Given the description of an element on the screen output the (x, y) to click on. 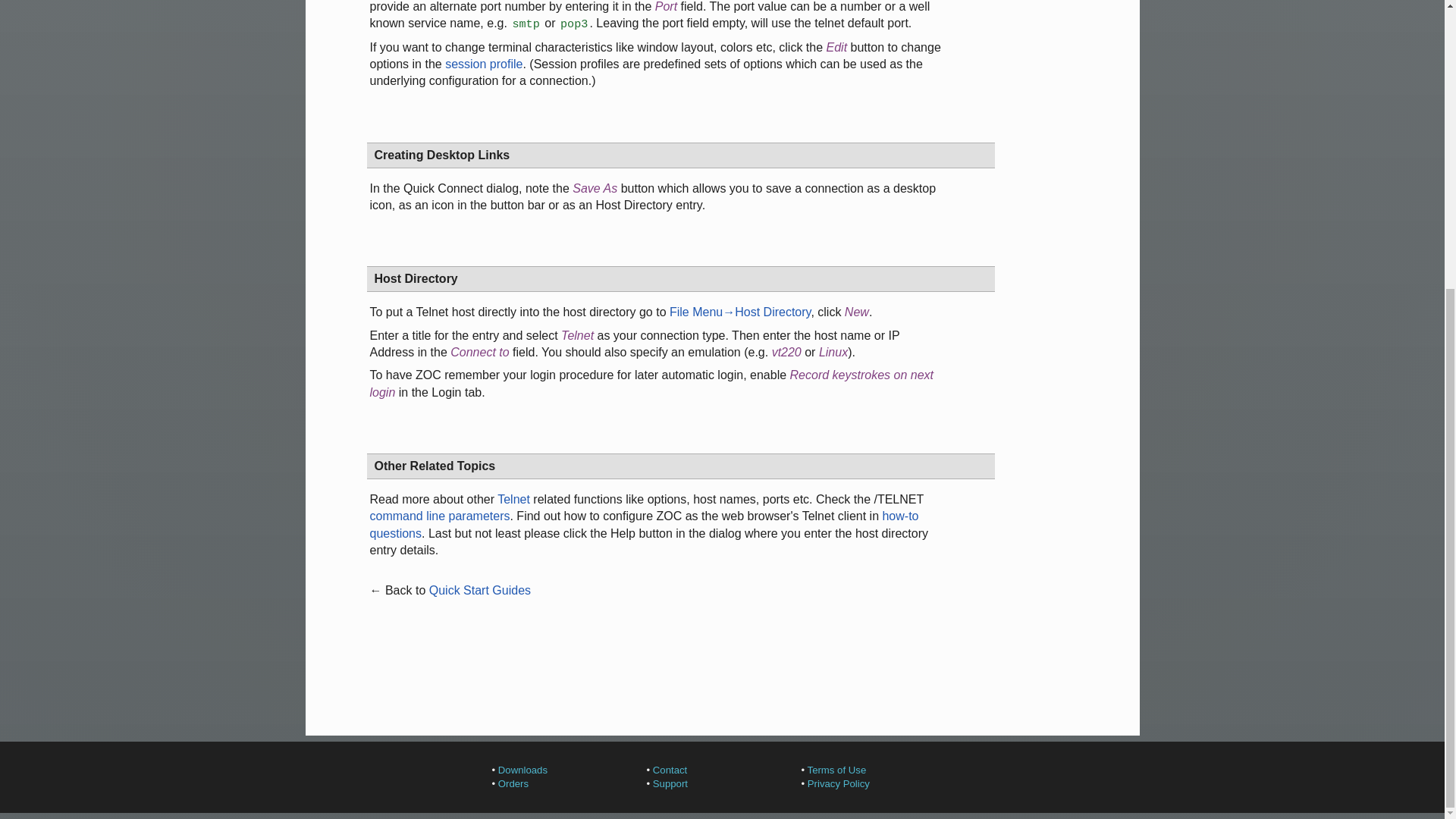
Terms of Use (837, 769)
Support (669, 783)
command line parameters (440, 515)
Downloads (522, 769)
Telnet (513, 499)
Privacy Policy (838, 783)
Support (669, 783)
session profile (483, 63)
Orders (512, 783)
Contact (669, 769)
